Given the description of an element on the screen output the (x, y) to click on. 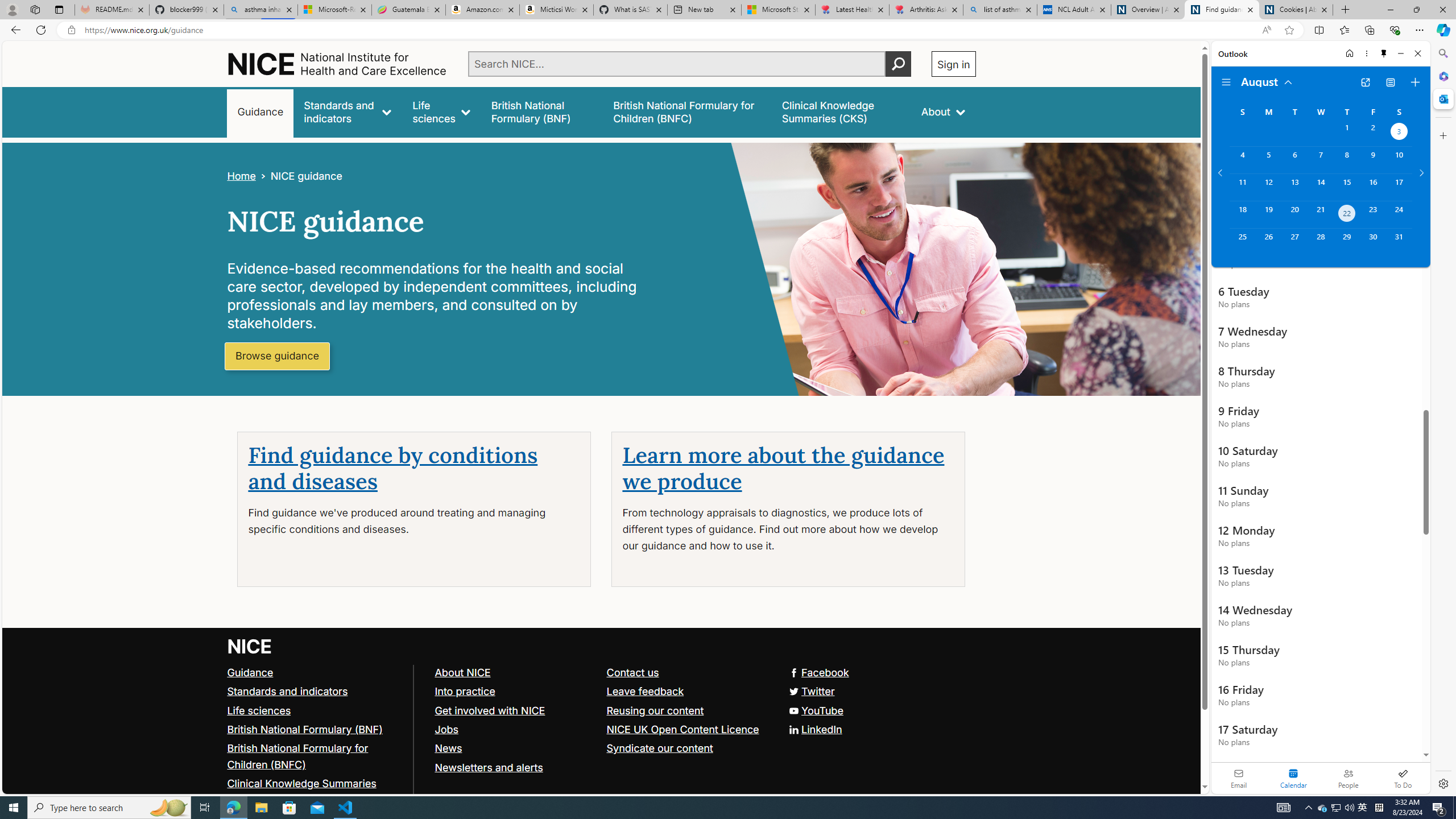
Thursday, August 1, 2024.  (1346, 132)
Guidance (250, 671)
YouTube (601, 710)
To Do (1402, 777)
list of asthma inhalers uk - Search (1000, 9)
Leave feedback (644, 690)
NCL Adult Asthma Inhaler Choice Guideline (1073, 9)
